Given the description of an element on the screen output the (x, y) to click on. 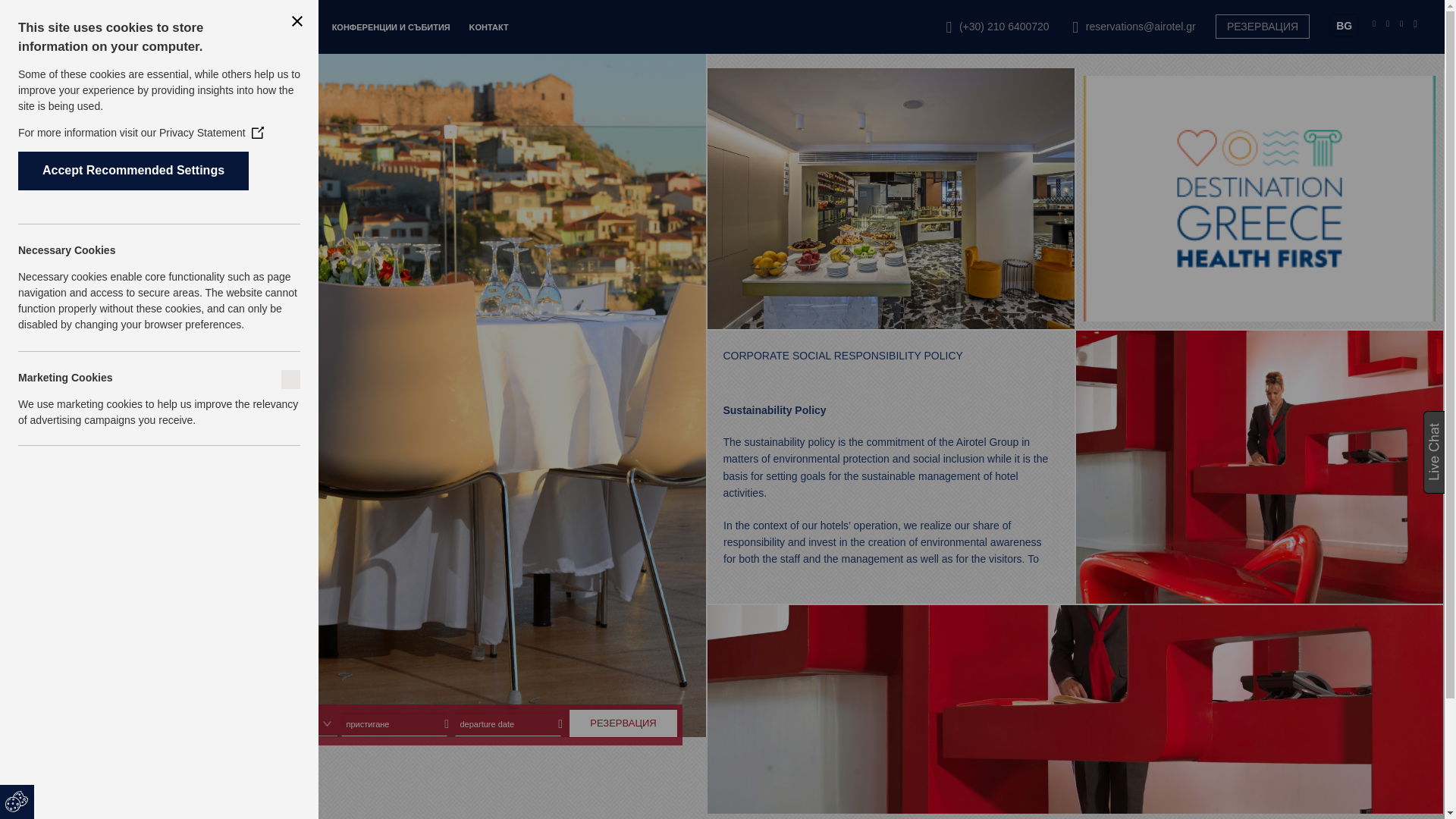
BG (1343, 25)
